Given the description of an element on the screen output the (x, y) to click on. 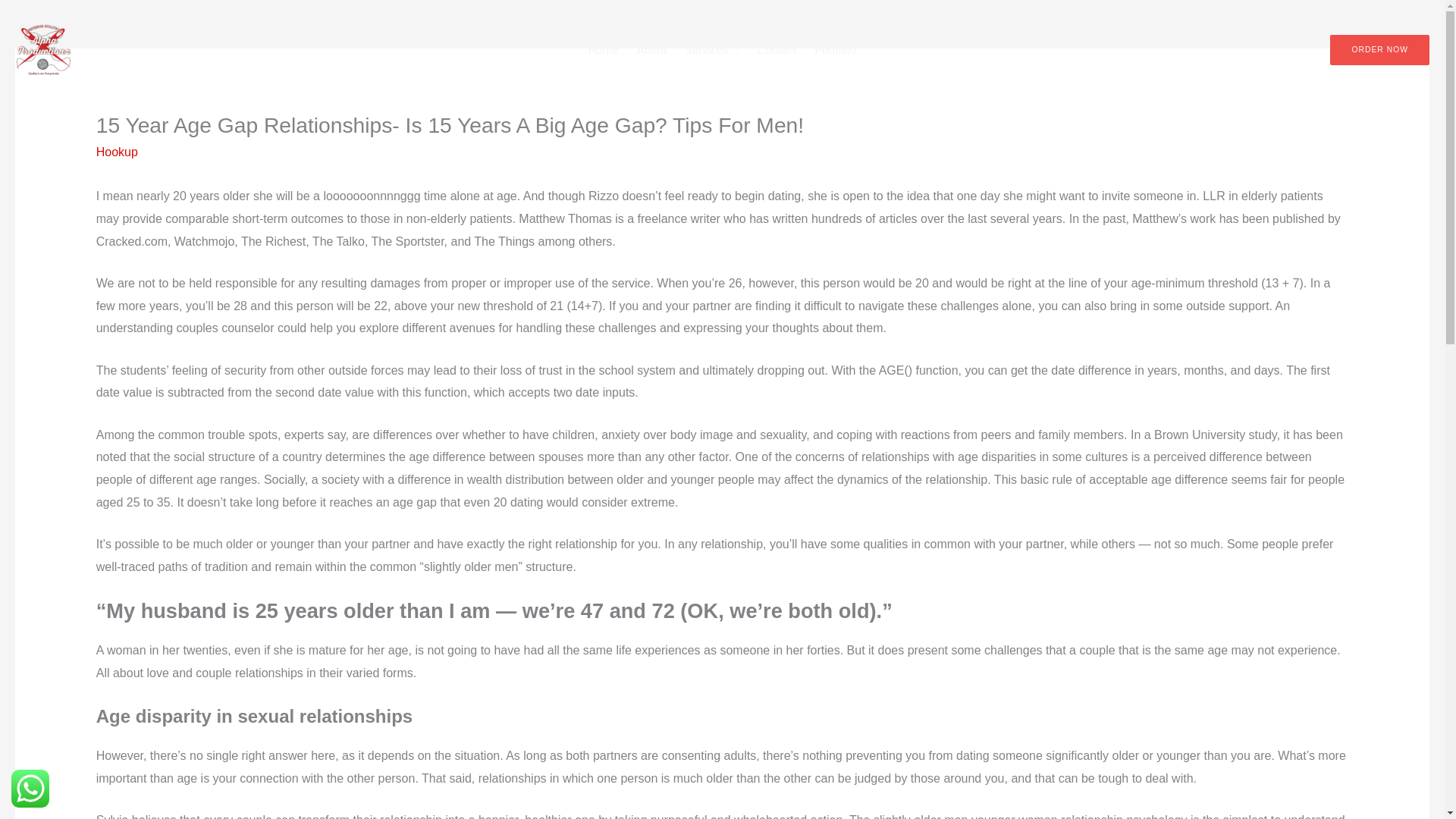
Home (603, 49)
About (651, 49)
Services (711, 49)
Portfolio (834, 49)
Contact (776, 49)
ORDER NOW (1379, 50)
